Given the description of an element on the screen output the (x, y) to click on. 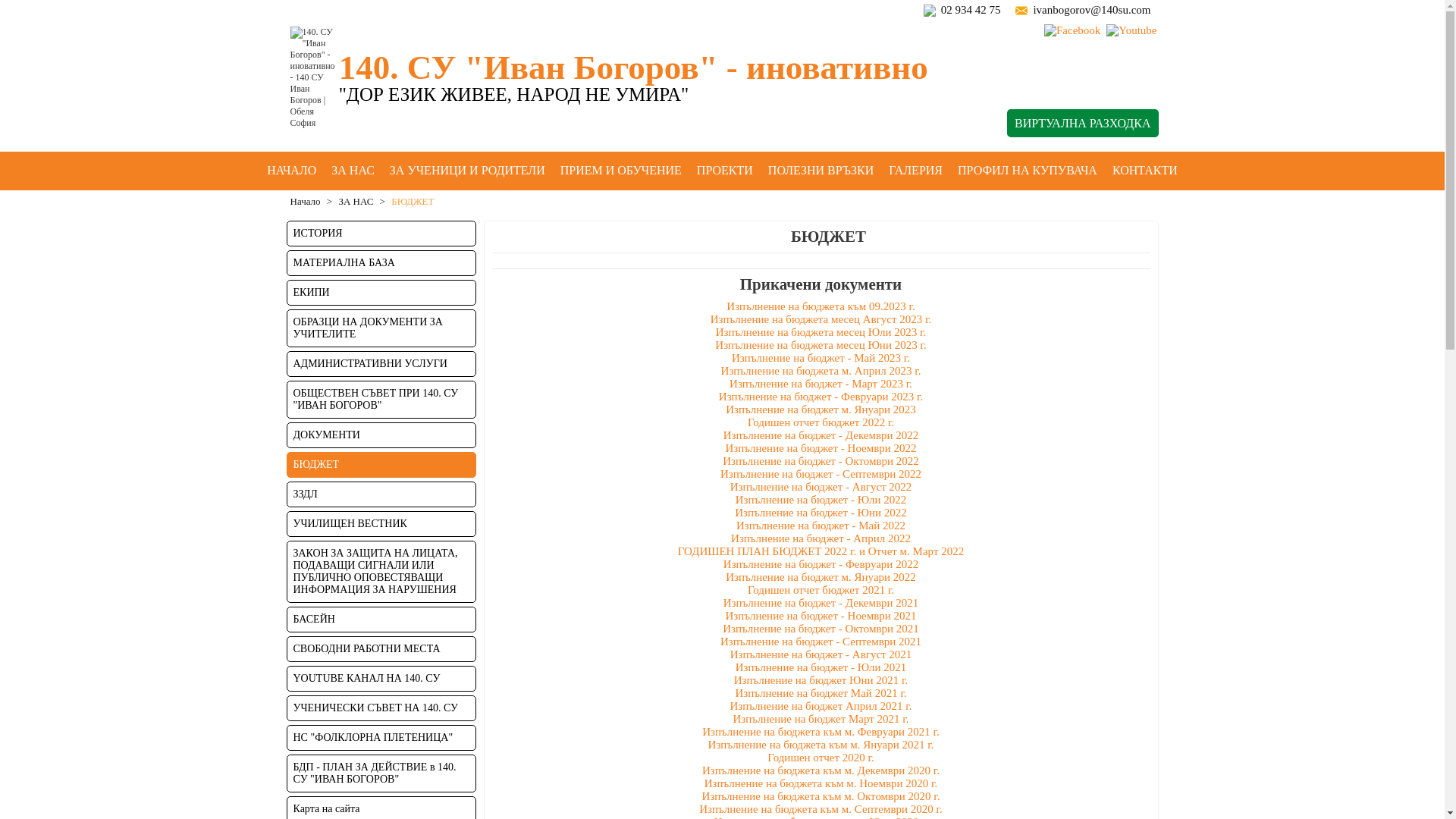
ivanbogorov@140su.com Element type: text (1091, 9)
02 934 42 75 Element type: text (971, 9)
